Given the description of an element on the screen output the (x, y) to click on. 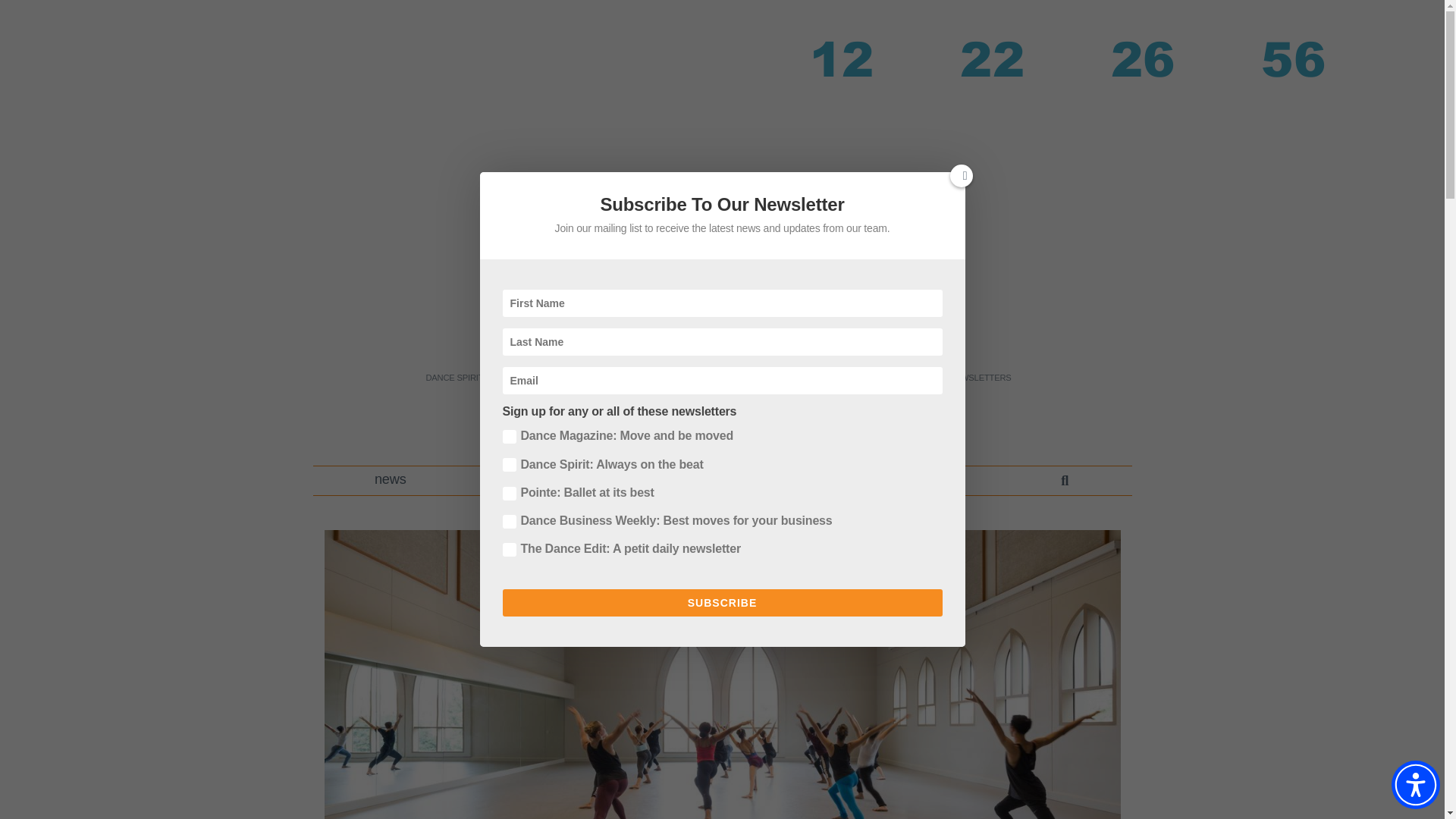
Accessibility Menu (1415, 784)
DANCE SPIRIT (454, 377)
news (390, 480)
POINTE MAGAZINE (625, 377)
NEWSLETTERS (980, 377)
DANCE TEACHER (535, 377)
EVENTS CALENDAR (807, 377)
career (522, 480)
subscribe (934, 480)
THE DANCE EDIT (715, 377)
COLLEGE GUIDE (897, 377)
more (791, 480)
guides (658, 480)
